Given the description of an element on the screen output the (x, y) to click on. 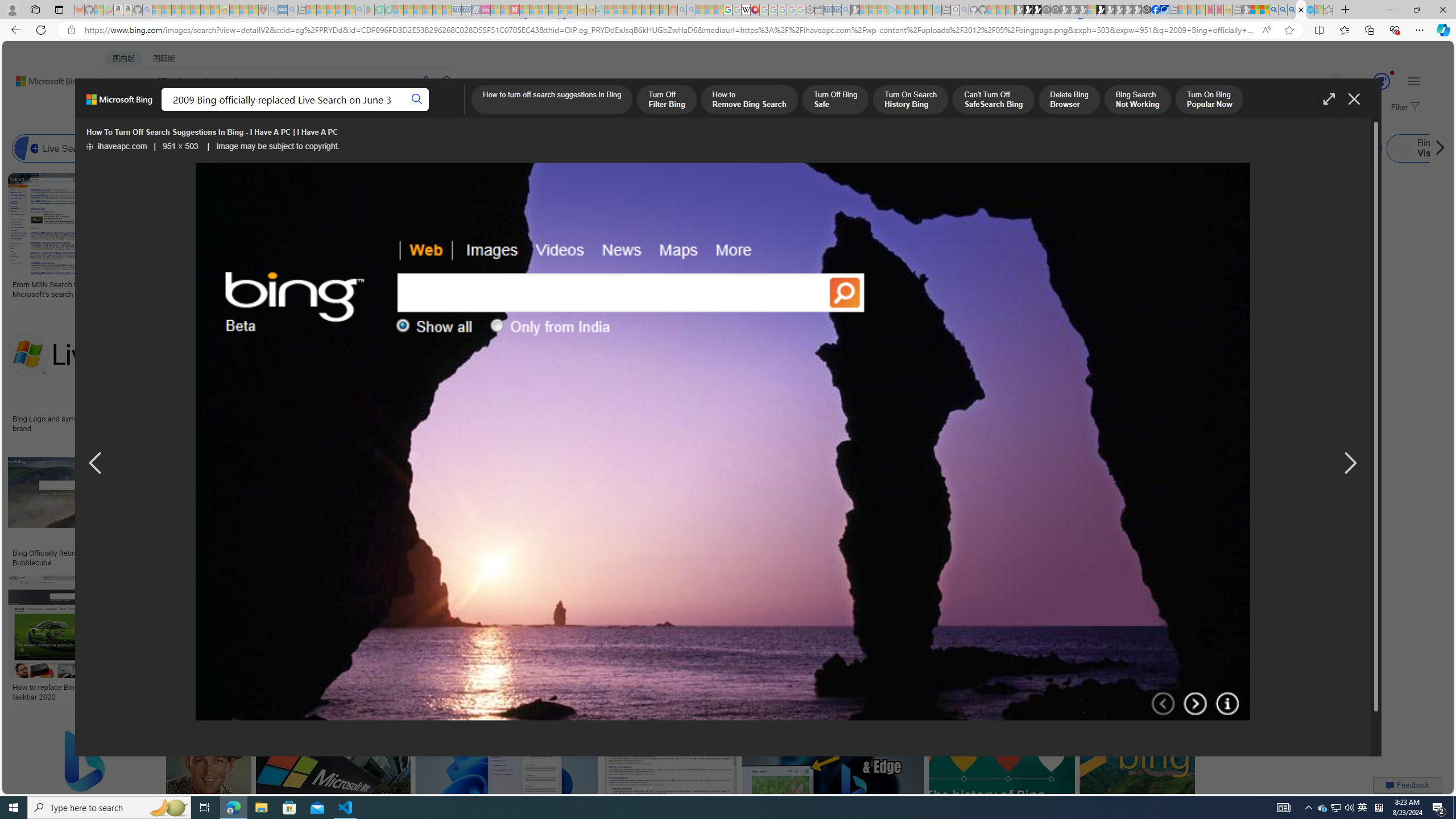
Technology History timeline | Timetoast timelinesSave (835, 237)
Remove the 'News & Interests' bar from Bing | TechLife (860, 419)
Bing Image Search Similar Images (964, 148)
Technology History timeline | Timetoast timelines (833, 289)
Bing Voice Search (156, 148)
Search for: Windows Live Search (1336, 148)
MSN Homepage Bing Search Engine (767, 148)
NCL Adult Asthma Inhaler Choice Guideline - Sleeping (282, 9)
Microsoft Live LogoSave (421, 237)
Bing Voice Search (121, 148)
